Given the description of an element on the screen output the (x, y) to click on. 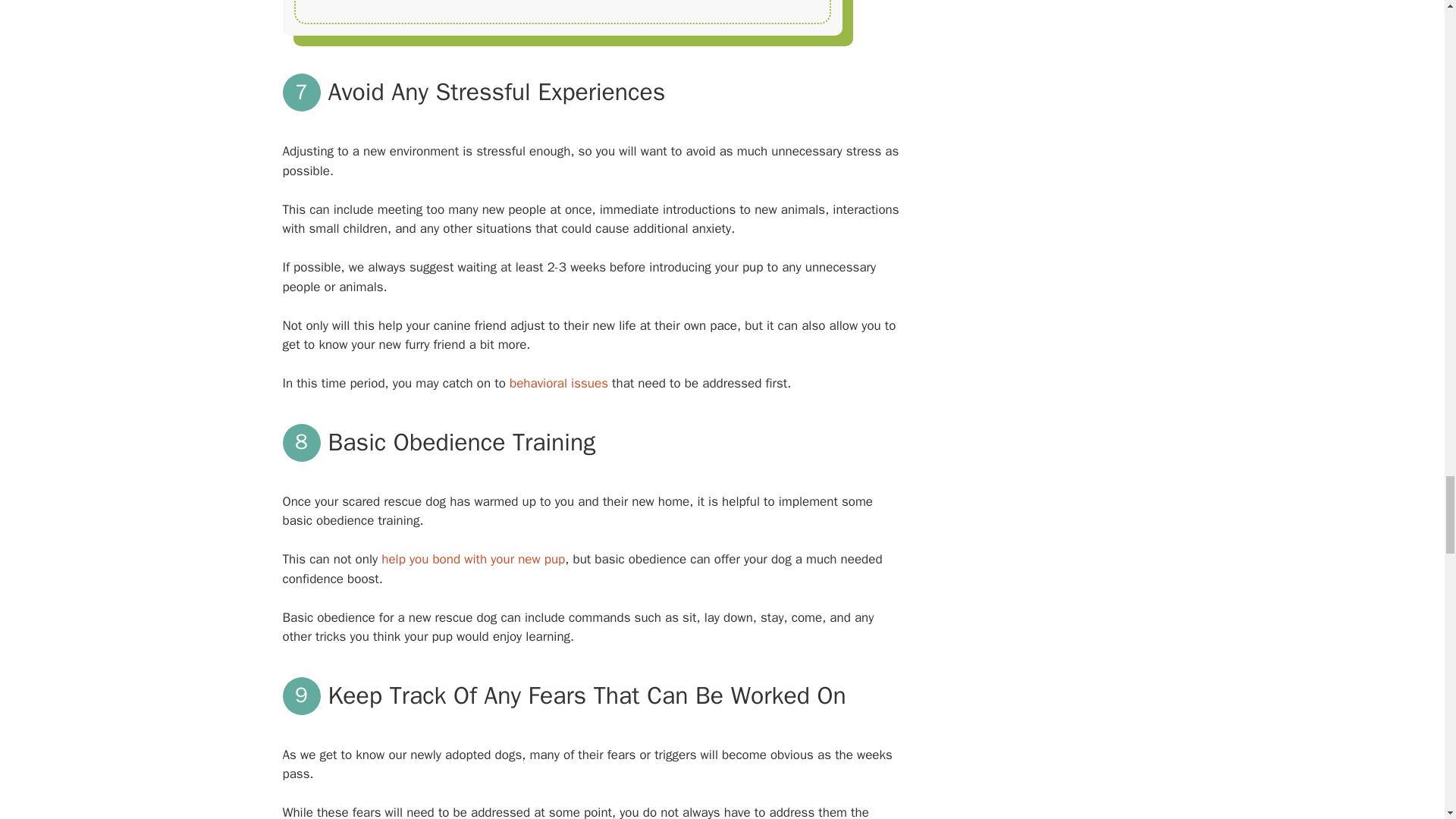
help you bond with your new pup (472, 559)
behavioral issues (558, 383)
